Given the description of an element on the screen output the (x, y) to click on. 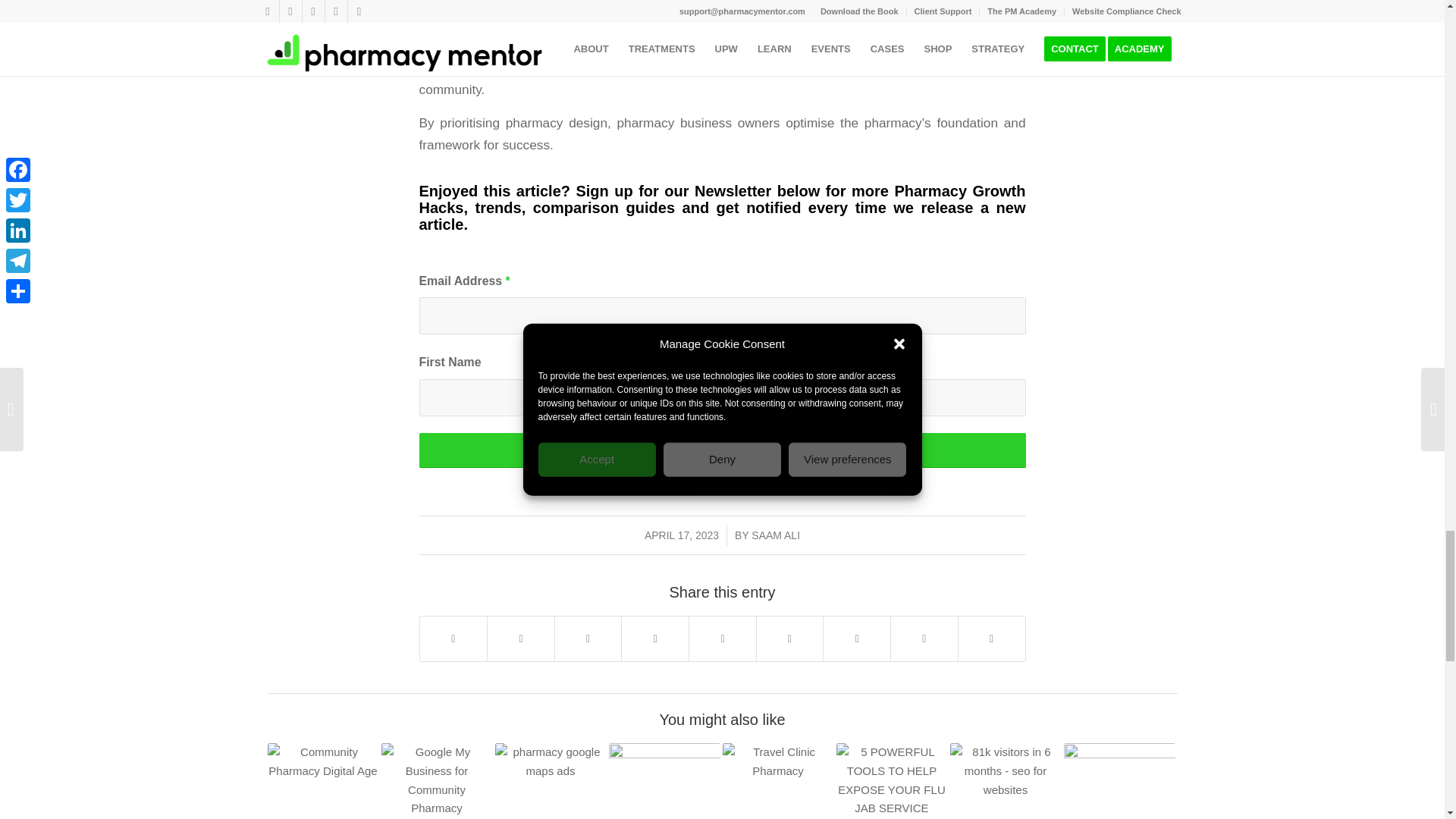
Subscribe (722, 450)
